Given the description of an element on the screen output the (x, y) to click on. 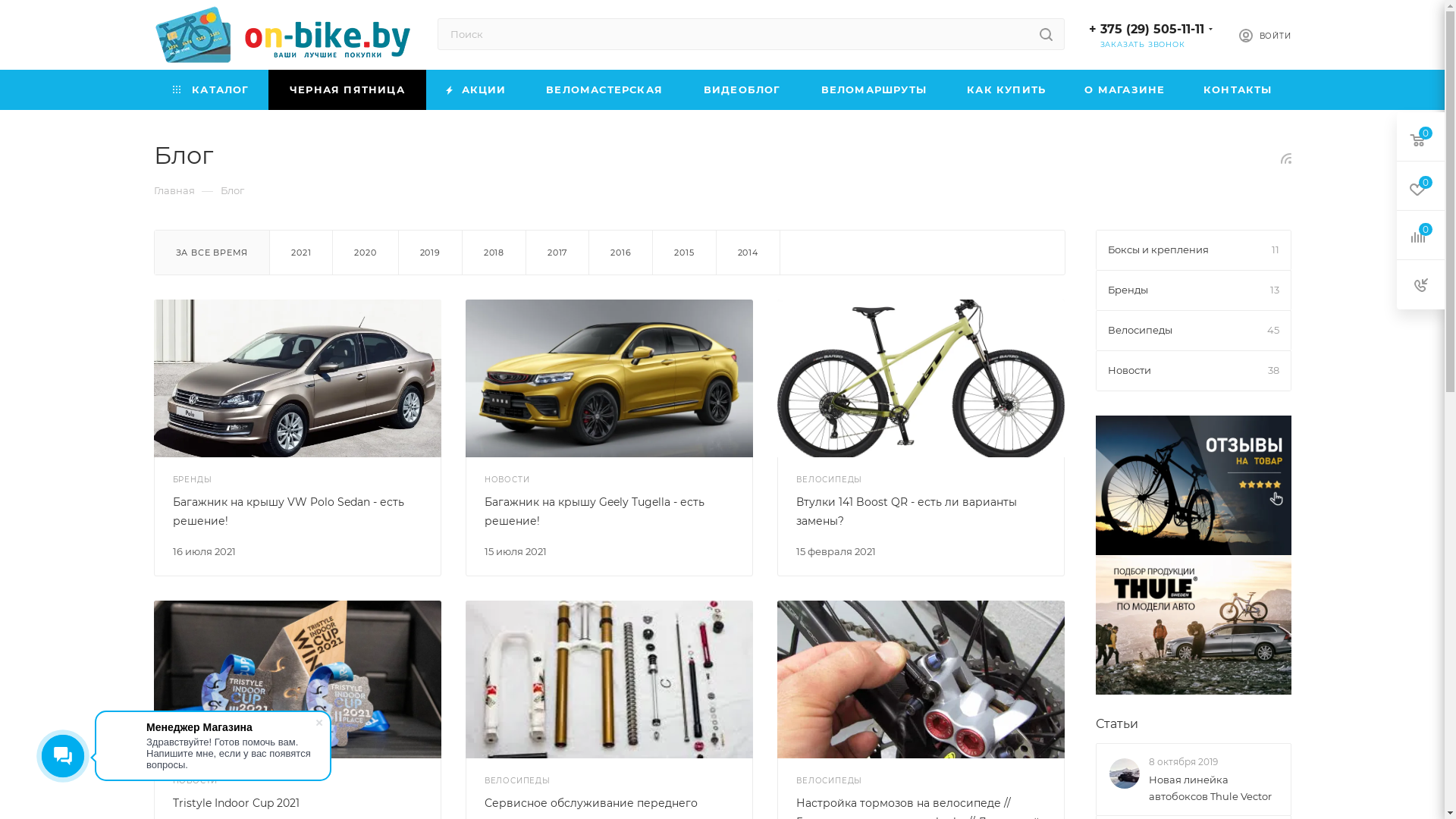
Tristyle Indoor Cup 2021 Element type: text (235, 802)
2015 Element type: text (683, 252)
2019 Element type: text (429, 252)
2021 Element type: text (300, 252)
2018 Element type: text (493, 252)
2017 Element type: text (557, 252)
+ 375 (29) 505-11-11 Element type: text (1146, 28)
2016 Element type: text (620, 252)
2014 Element type: text (747, 252)
2020 Element type: text (364, 252)
RSS Element type: hover (1285, 157)
